Given the description of an element on the screen output the (x, y) to click on. 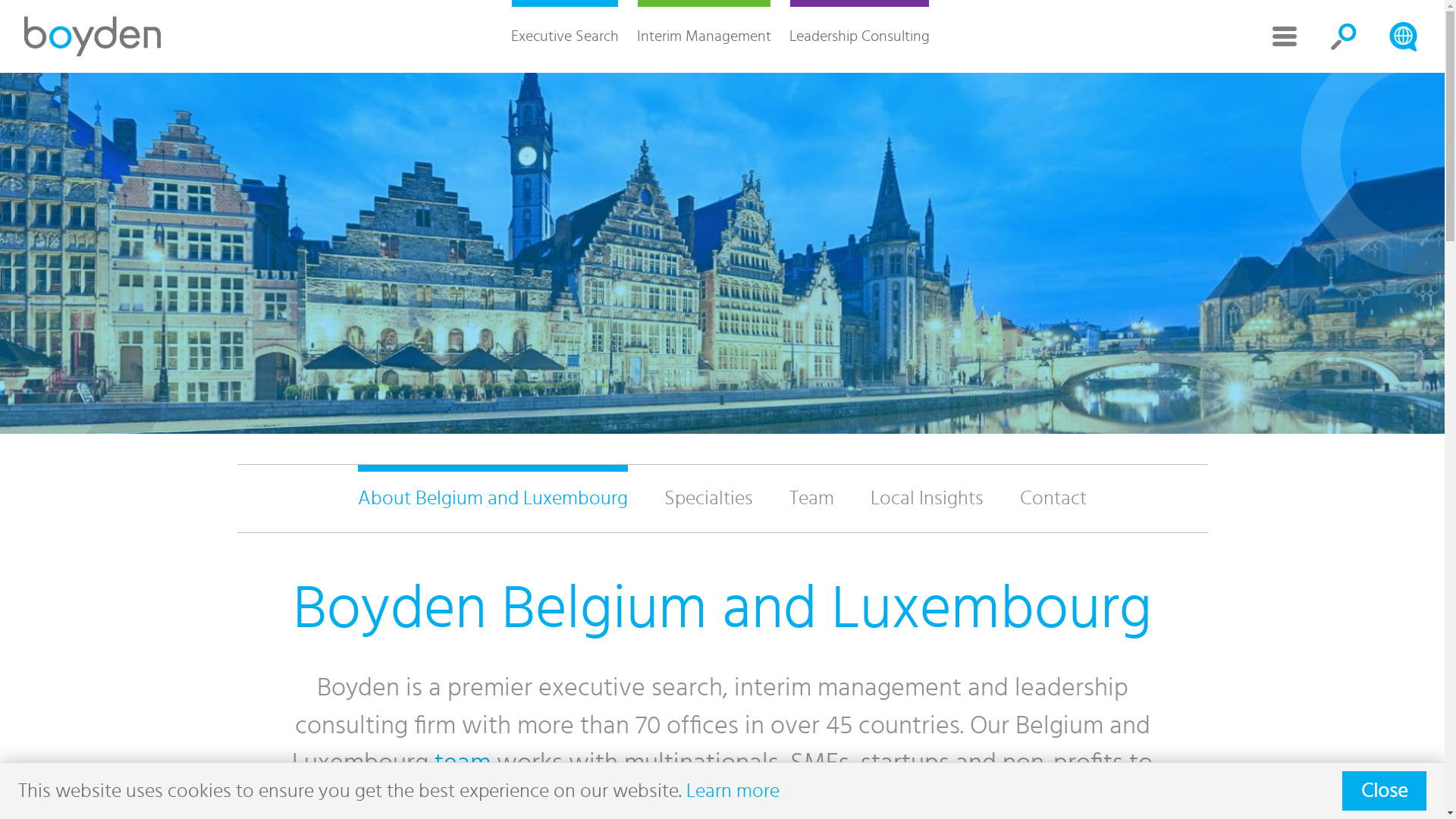
Search Element type: text (1343, 36)
About Belgium and Luxembourg Element type: text (492, 498)
Learn more Element type: text (732, 790)
Executive Search Element type: text (564, 36)
team Element type: text (462, 762)
Leadership Consulting Element type: text (858, 36)
Interim Management Element type: text (703, 36)
Search Element type: text (1402, 36)
Contact Element type: text (1052, 498)
Team Element type: text (811, 498)
Close Element type: text (1384, 790)
Boyden Executive Search Element type: hover (92, 36)
Local Insights Element type: text (926, 498)
Specialties Element type: text (708, 498)
More Element type: text (1284, 36)
